Given the description of an element on the screen output the (x, y) to click on. 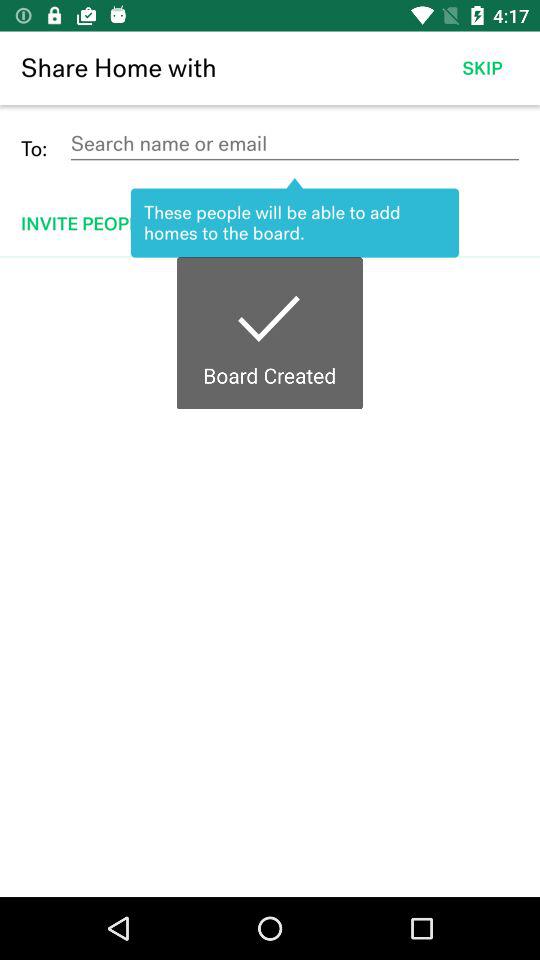
correct option (270, 577)
